Given the description of an element on the screen output the (x, y) to click on. 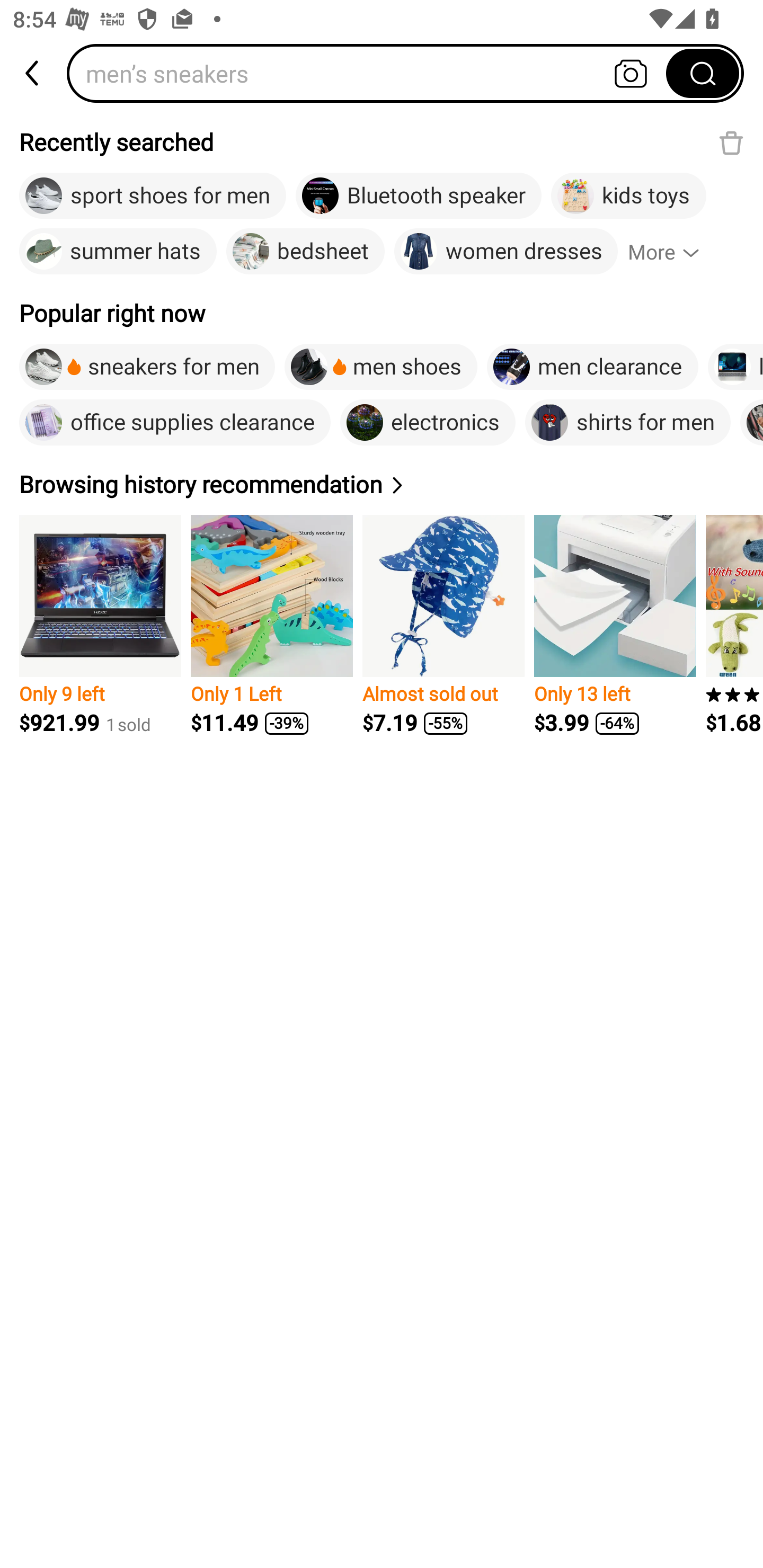
back (33, 72)
men’s sneakers (372, 73)
Search by photo (630, 73)
Delete recent search (731, 142)
sport shoes for men (152, 195)
Bluetooth speaker (418, 195)
kids toys (628, 195)
summer hats (117, 251)
bedsheet (305, 251)
women dresses (506, 251)
More (671, 251)
sneakers for men (146, 366)
men shoes (380, 366)
men clearance (592, 366)
office supplies clearance (174, 422)
electronics (427, 422)
shirts for men (627, 422)
Browsing history recommendation (213, 484)
Only 9 left $921.99 1￼sold (100, 625)
Only 1 Left $11.49 -39% (271, 625)
Almost sold out $7.19 -55% (443, 625)
Only 13 left $3.99 -64% (614, 625)
